Given the description of an element on the screen output the (x, y) to click on. 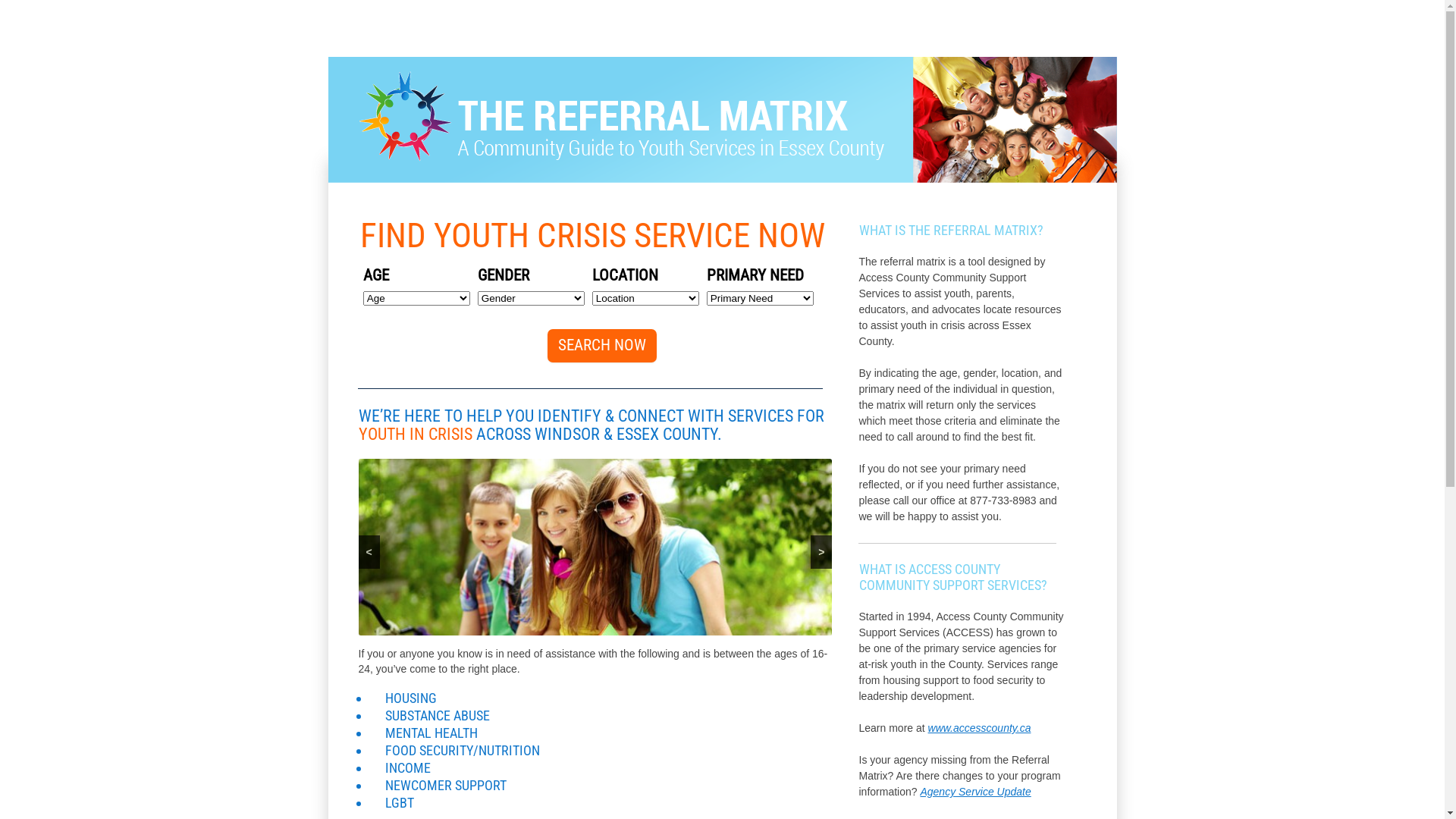
> Element type: text (820, 551)
Agency Service Update Element type: text (974, 791)
< Element type: text (368, 551)
SEARCH NOW Element type: text (601, 345)
www.accesscounty.ca Element type: text (979, 727)
